Given the description of an element on the screen output the (x, y) to click on. 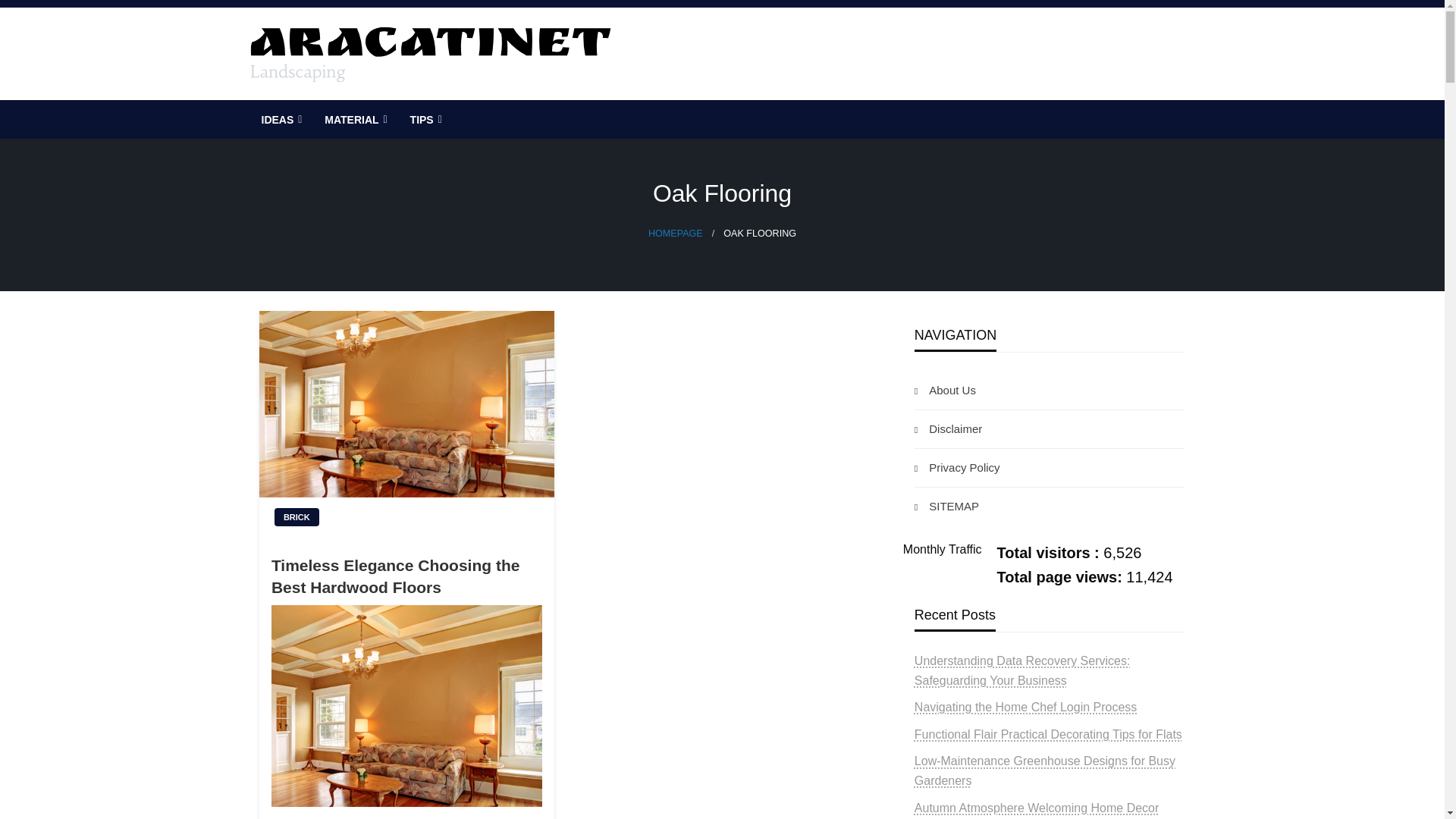
MATERIAL (353, 119)
Timeless Elegance Choosing the Best Hardwood Floors (405, 576)
Homepage (675, 233)
Aracatinet (316, 111)
IDEAS (280, 119)
About Us (1049, 390)
BRICK (296, 516)
HOMEPAGE (675, 233)
TIPS (424, 119)
Timeless Elegance Choosing the Best Hardwood Floors (406, 424)
Privacy Policy (1049, 467)
SITEMAP (1049, 506)
Low-Maintenance Greenhouse Designs for Busy Gardeners (1044, 770)
